Given the description of an element on the screen output the (x, y) to click on. 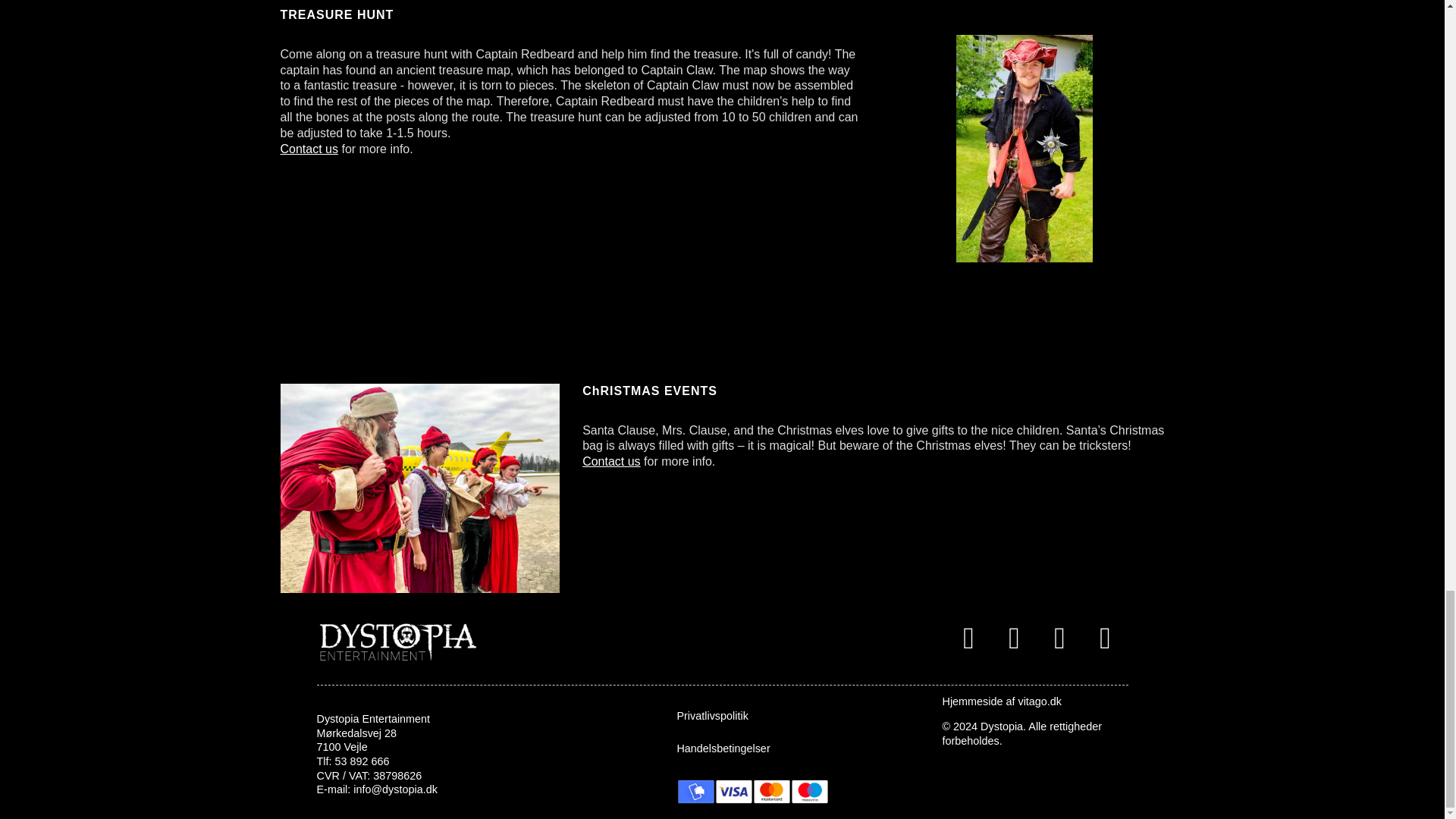
Facebook (967, 637)
Privatlivspolitik (792, 716)
Dystopia - Maintenance (397, 638)
Contact us (309, 148)
Instagram (1013, 637)
Santa Clause, Mrs Clause and christmas elfs (420, 488)
7100 Vejle (342, 746)
Handelsbetingelser (792, 748)
Contact us (611, 461)
